Given the description of an element on the screen output the (x, y) to click on. 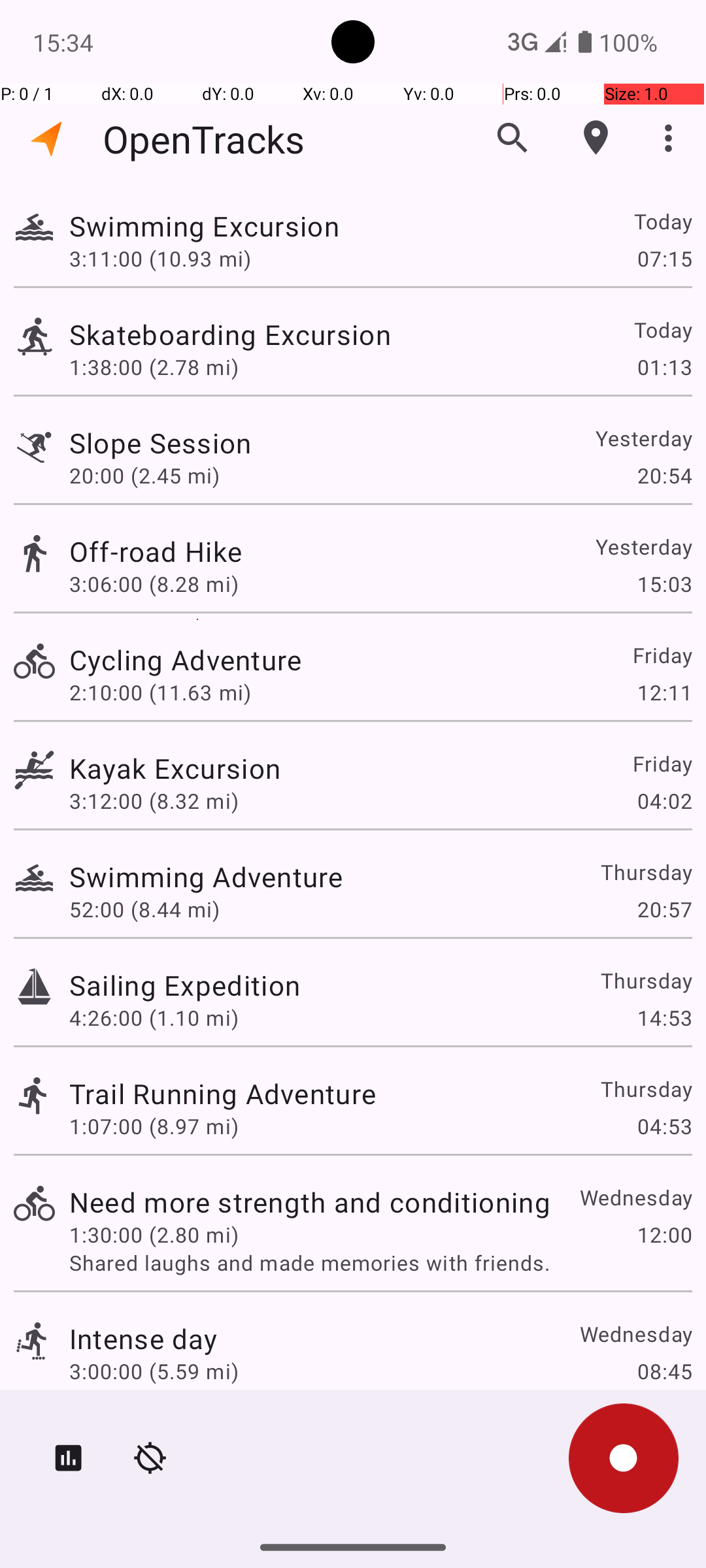
OpenTracks Element type: android.widget.TextView (203, 138)
Markers Element type: android.widget.Button (595, 137)
Record Element type: android.widget.ImageButton (623, 1458)
Track Element type: android.widget.ImageView (33, 227)
Swimming Excursion Element type: android.widget.TextView (203, 225)
Today Element type: android.widget.TextView (662, 221)
3:11:00 (10.93 mi) Element type: android.widget.TextView (159, 258)
07:15 Element type: android.widget.TextView (664, 258)
Skateboarding Excursion Element type: android.widget.TextView (229, 333)
1:38:00 (2.78 mi) Element type: android.widget.TextView (153, 366)
01:13 Element type: android.widget.TextView (664, 366)
Slope Session Element type: android.widget.TextView (160, 442)
Yesterday Element type: android.widget.TextView (643, 438)
20:00 (2.45 mi) Element type: android.widget.TextView (144, 475)
20:54 Element type: android.widget.TextView (664, 475)
Off-road Hike Element type: android.widget.TextView (155, 550)
3:06:00 (8.28 mi) Element type: android.widget.TextView (153, 583)
15:03 Element type: android.widget.TextView (664, 583)
Cycling Adventure Element type: android.widget.TextView (185, 659)
Friday Element type: android.widget.TextView (661, 654)
2:10:00 (11.63 mi) Element type: android.widget.TextView (159, 692)
12:11 Element type: android.widget.TextView (664, 692)
Kayak Excursion Element type: android.widget.TextView (174, 767)
3:12:00 (8.32 mi) Element type: android.widget.TextView (153, 800)
04:02 Element type: android.widget.TextView (664, 800)
Swimming Adventure Element type: android.widget.TextView (205, 876)
Thursday Element type: android.widget.TextView (645, 871)
52:00 (8.44 mi) Element type: android.widget.TextView (144, 909)
20:57 Element type: android.widget.TextView (664, 909)
Sailing Expedition Element type: android.widget.TextView (184, 984)
4:26:00 (1.10 mi) Element type: android.widget.TextView (153, 1017)
14:53 Element type: android.widget.TextView (664, 1017)
Trail Running Adventure Element type: android.widget.TextView (222, 1092)
1:07:00 (8.97 mi) Element type: android.widget.TextView (153, 1125)
04:53 Element type: android.widget.TextView (664, 1125)
Need more strength and conditioning Element type: android.widget.TextView (309, 1201)
Wednesday Element type: android.widget.TextView (635, 1197)
1:30:00 (2.80 mi) Element type: android.widget.TextView (153, 1234)
12:00 Element type: android.widget.TextView (664, 1234)
Shared laughs and made memories with friends. Element type: android.widget.TextView (380, 1262)
Intense day Element type: android.widget.TextView (143, 1337)
3:00:00 (5.59 mi) Element type: android.widget.TextView (153, 1370)
08:45 Element type: android.widget.TextView (664, 1370)
Gained new knowledge and skills. Element type: android.widget.TextView (380, 1399)
